Given the description of an element on the screen output the (x, y) to click on. 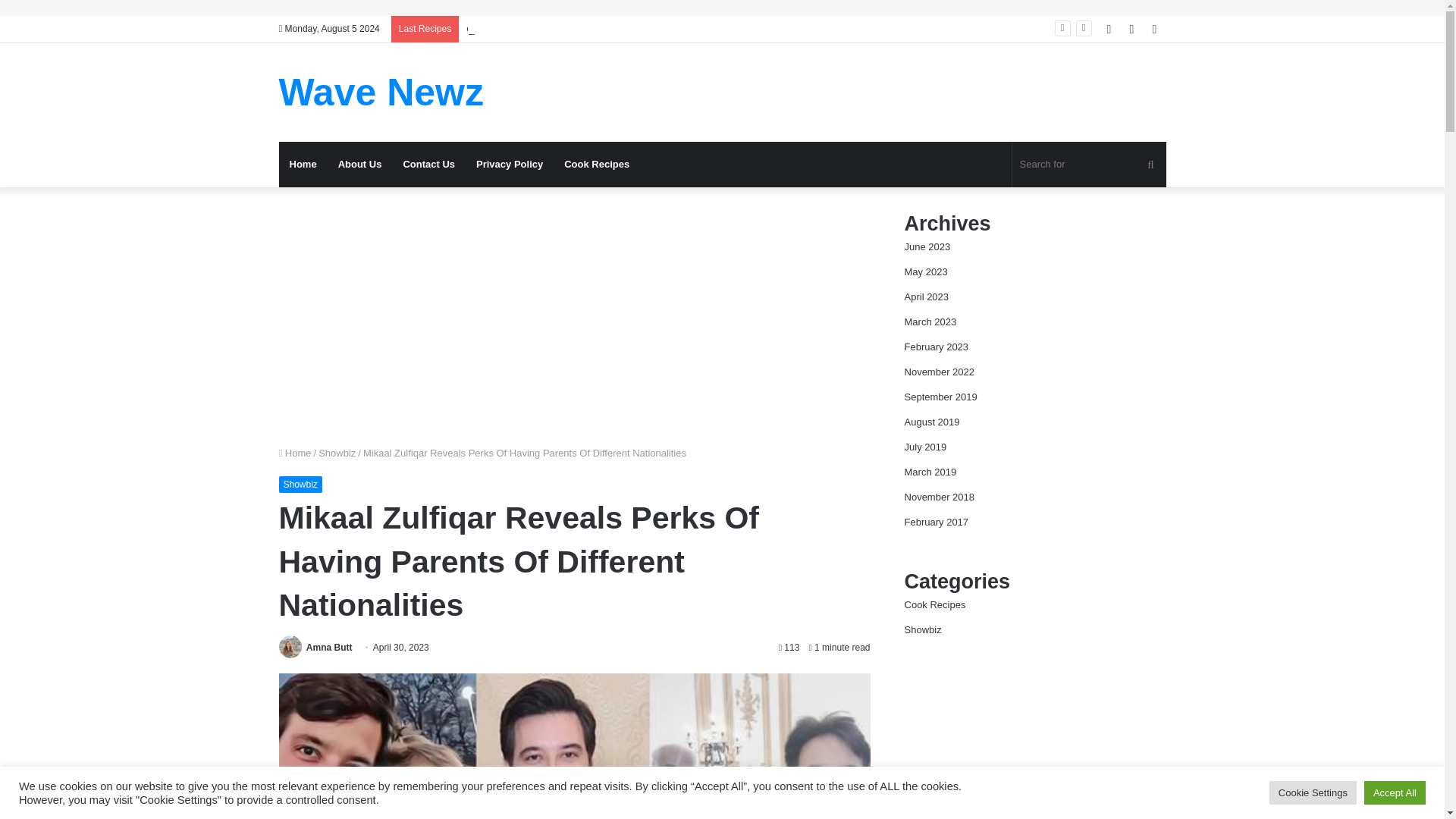
Showbiz (336, 452)
Cook Recipes (596, 164)
Amna Butt (328, 647)
Contact Us (428, 164)
Showbiz (300, 484)
Home (295, 452)
Search for (1088, 164)
Home (303, 164)
Privacy Policy (509, 164)
Advertisement (574, 315)
Wave Newz (381, 92)
Captivating Actress Momina Iqbal Some New Random Pictures (603, 29)
Amna Butt (328, 647)
Wave Newz (381, 92)
About Us (360, 164)
